Given the description of an element on the screen output the (x, y) to click on. 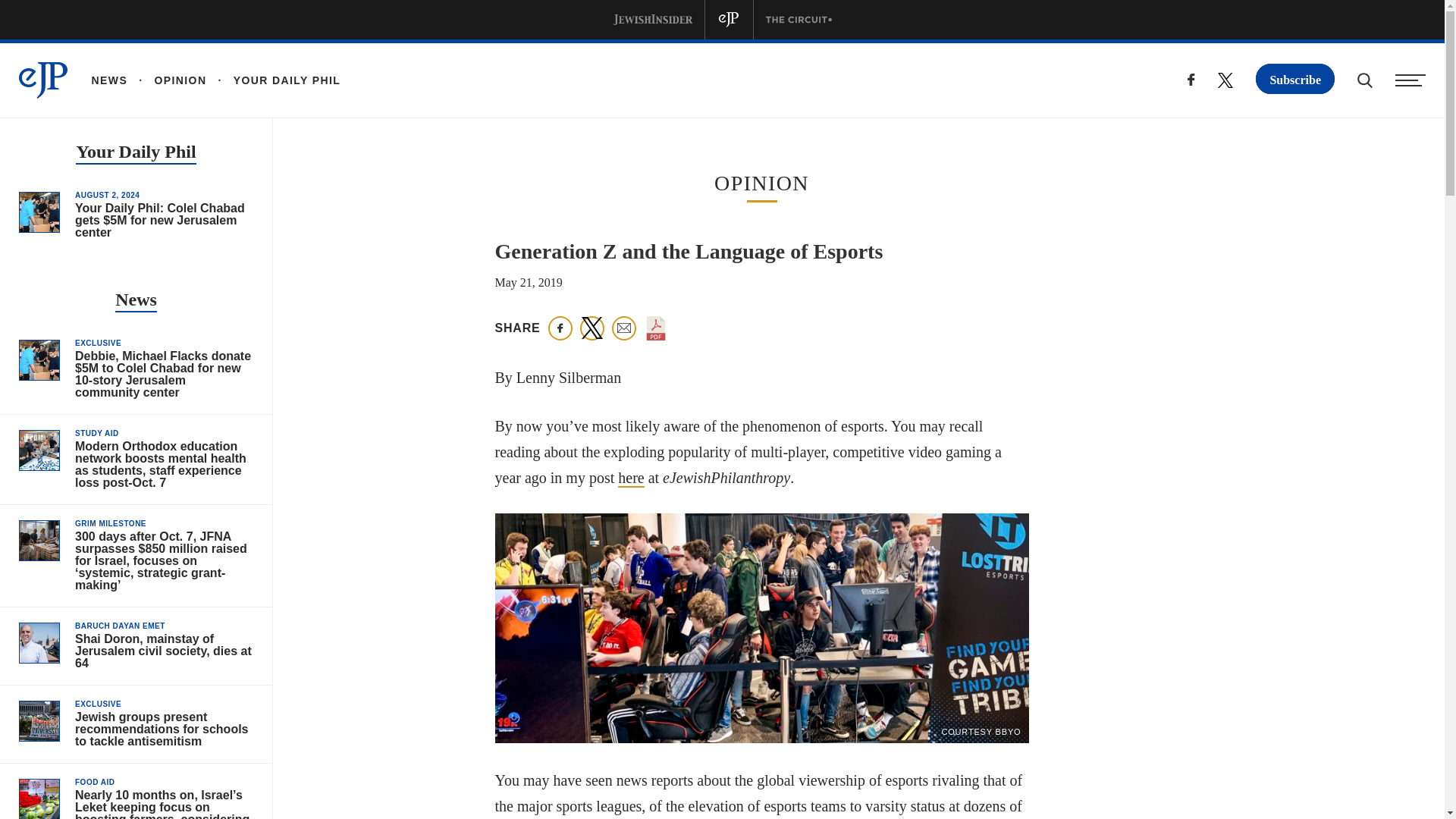
News (136, 301)
Subscribe (1295, 78)
Your Daily Phil (135, 153)
here (630, 478)
OPINION (167, 80)
YOUR DAILY PHIL (273, 80)
NEWS (109, 80)
